Given the description of an element on the screen output the (x, y) to click on. 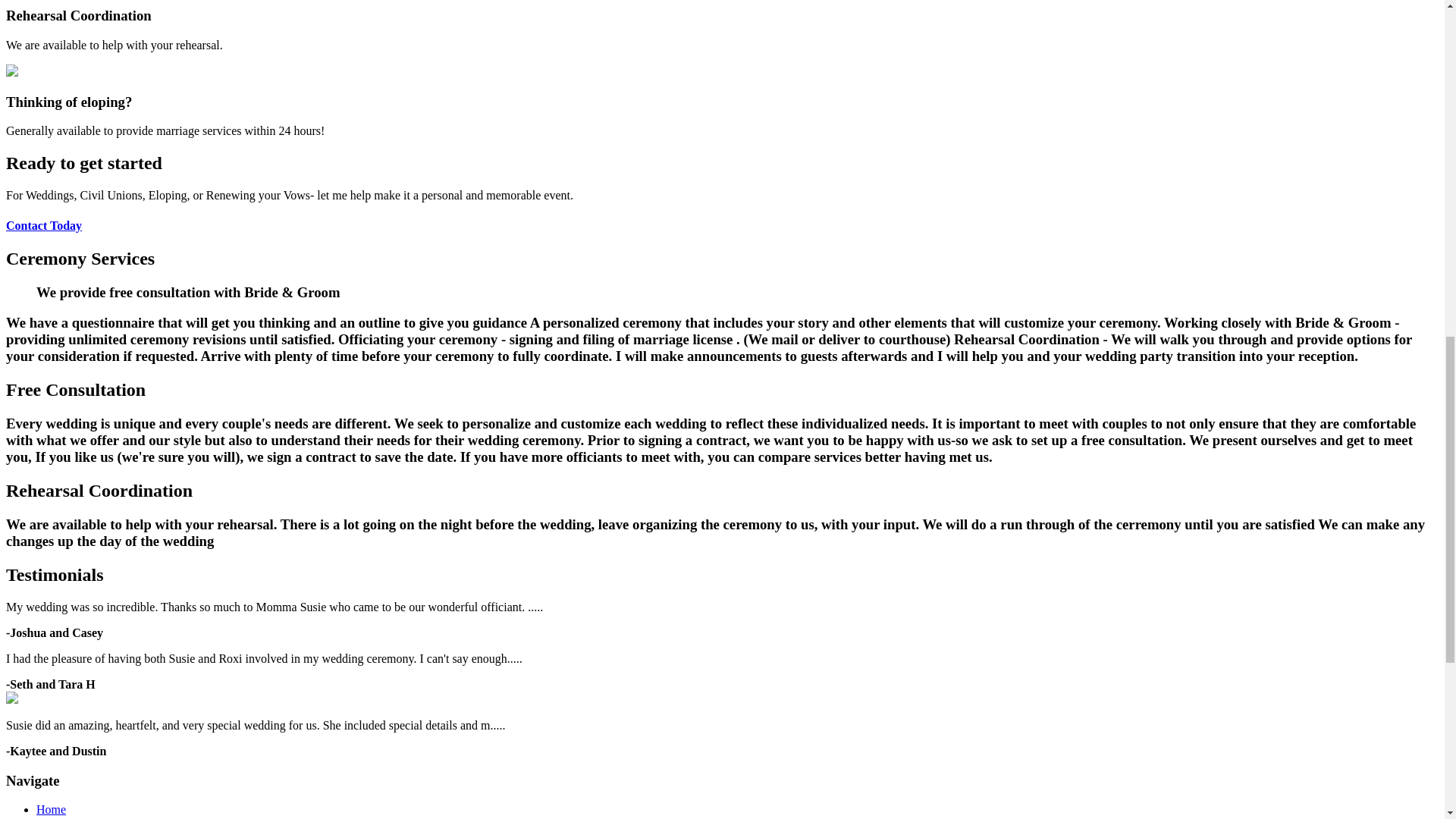
Our Services (67, 817)
Contact Today (43, 225)
Home (50, 809)
